Given the description of an element on the screen output the (x, y) to click on. 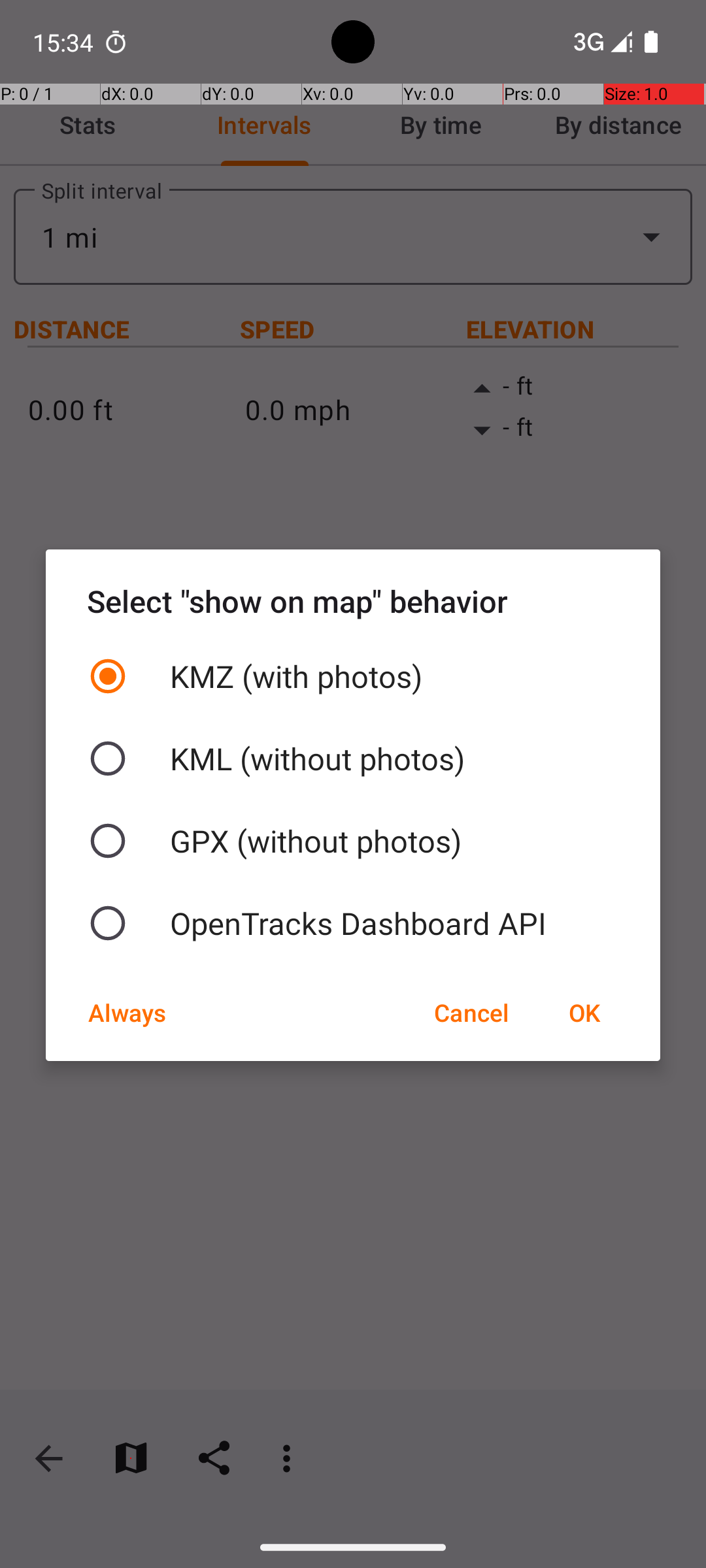
Select "show on map" behavior Element type: android.widget.TextView (352, 600)
KMZ (with photos) Element type: android.widget.CheckedTextView (352, 676)
KML (without photos) Element type: android.widget.CheckedTextView (352, 758)
GPX (without photos) Element type: android.widget.CheckedTextView (352, 840)
OpenTracks Dashboard API Element type: android.widget.CheckedTextView (352, 923)
